Given the description of an element on the screen output the (x, y) to click on. 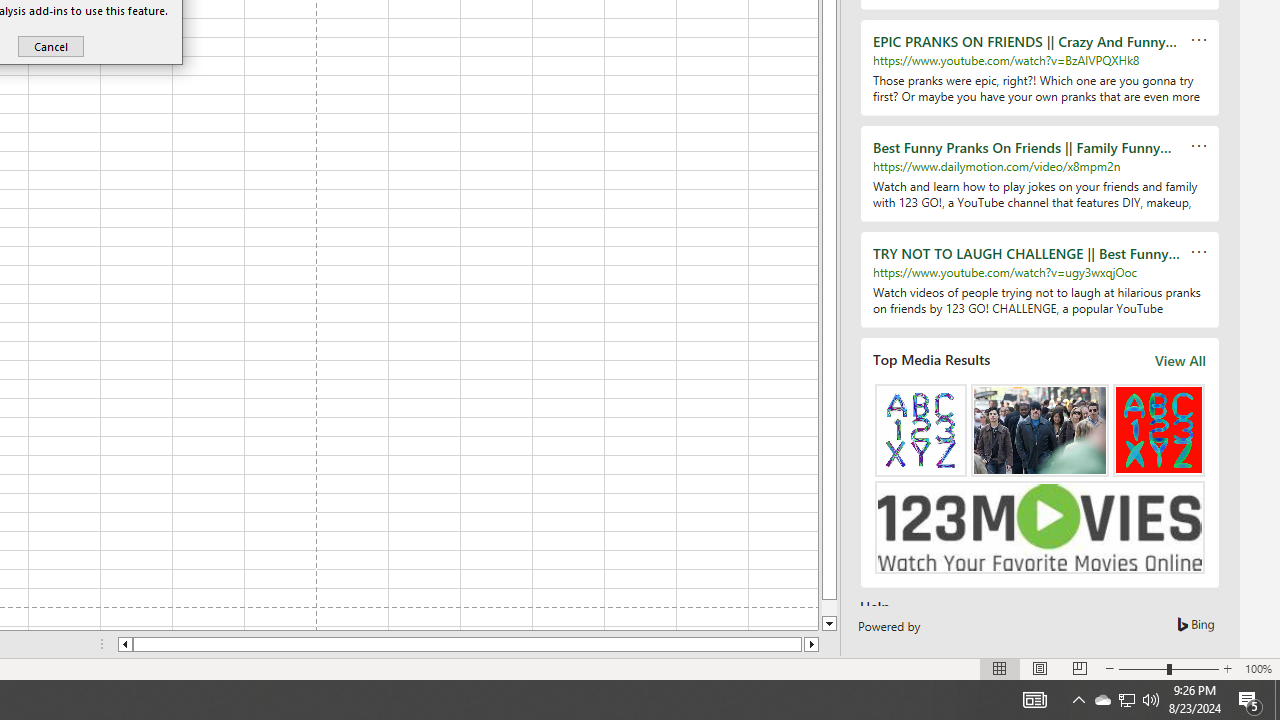
Cancel (1102, 699)
Q2790: 100% (50, 46)
